Given the description of an element on the screen output the (x, y) to click on. 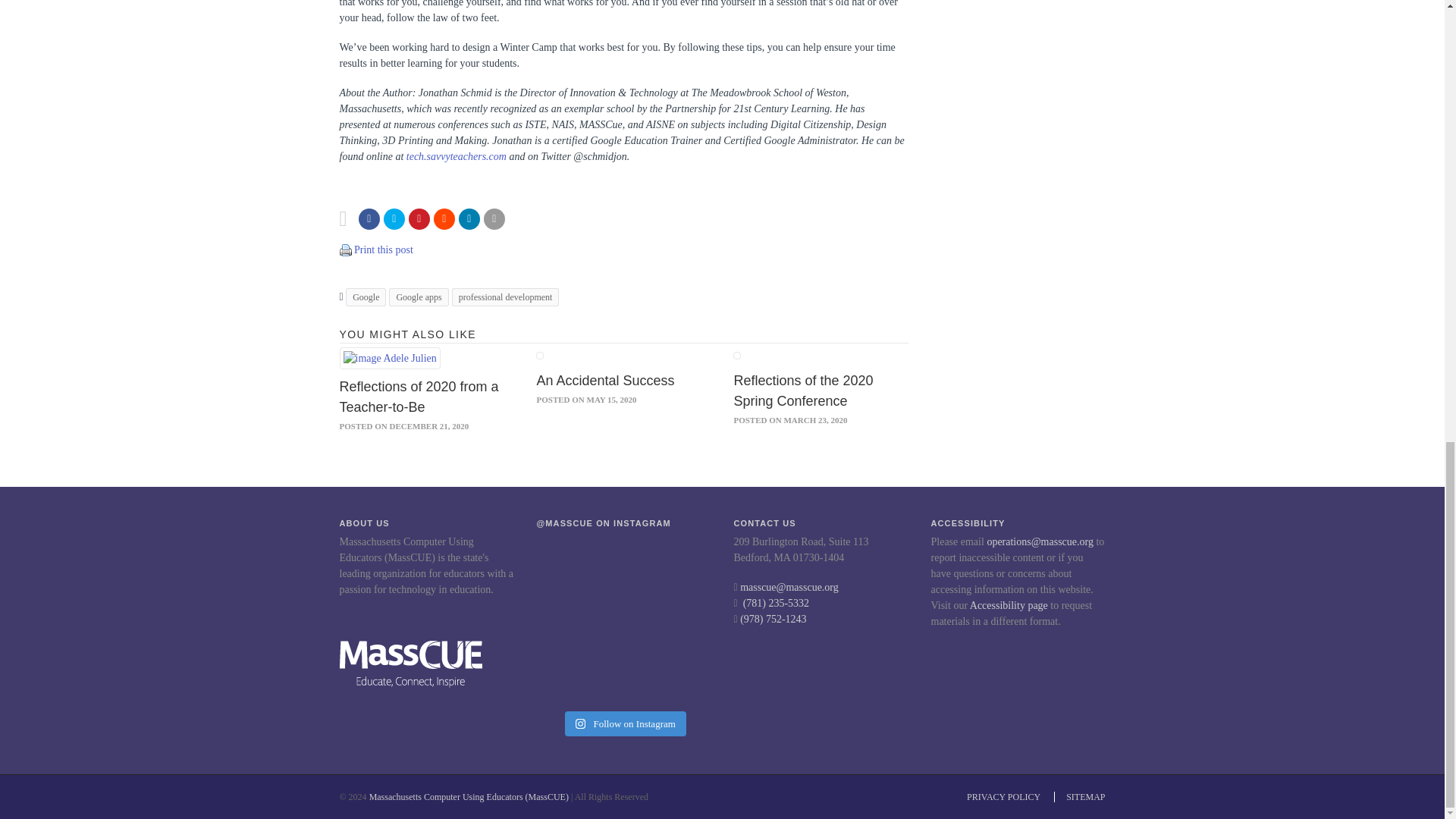
Print this post (345, 250)
Email (494, 219)
Submit to Reddit (443, 219)
Print this post (383, 248)
Tweet (394, 219)
Pin it (419, 219)
Print this post (345, 248)
Share on Linkedin (469, 219)
Share on Facebook (369, 219)
